Given the description of an element on the screen output the (x, y) to click on. 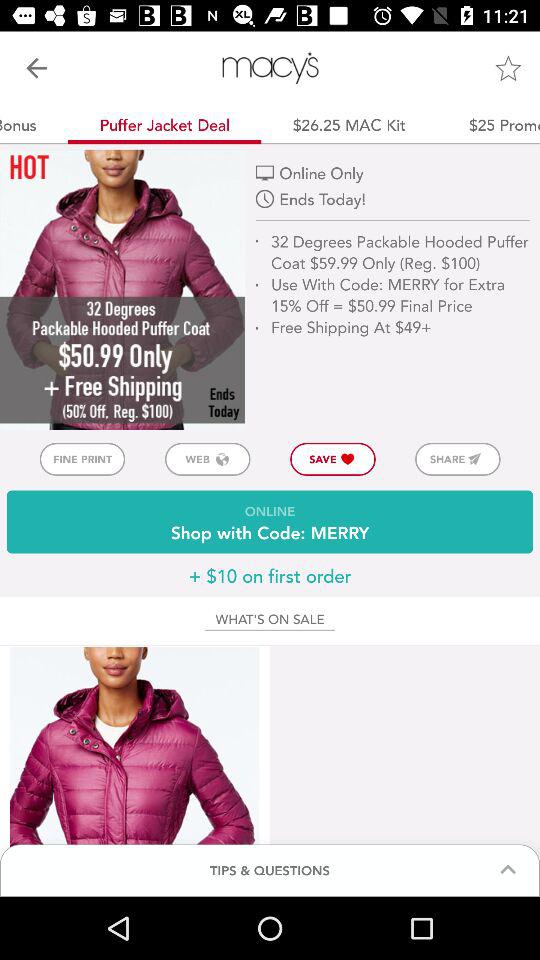
select icon below fine print icon (269, 521)
